Given the description of an element on the screen output the (x, y) to click on. 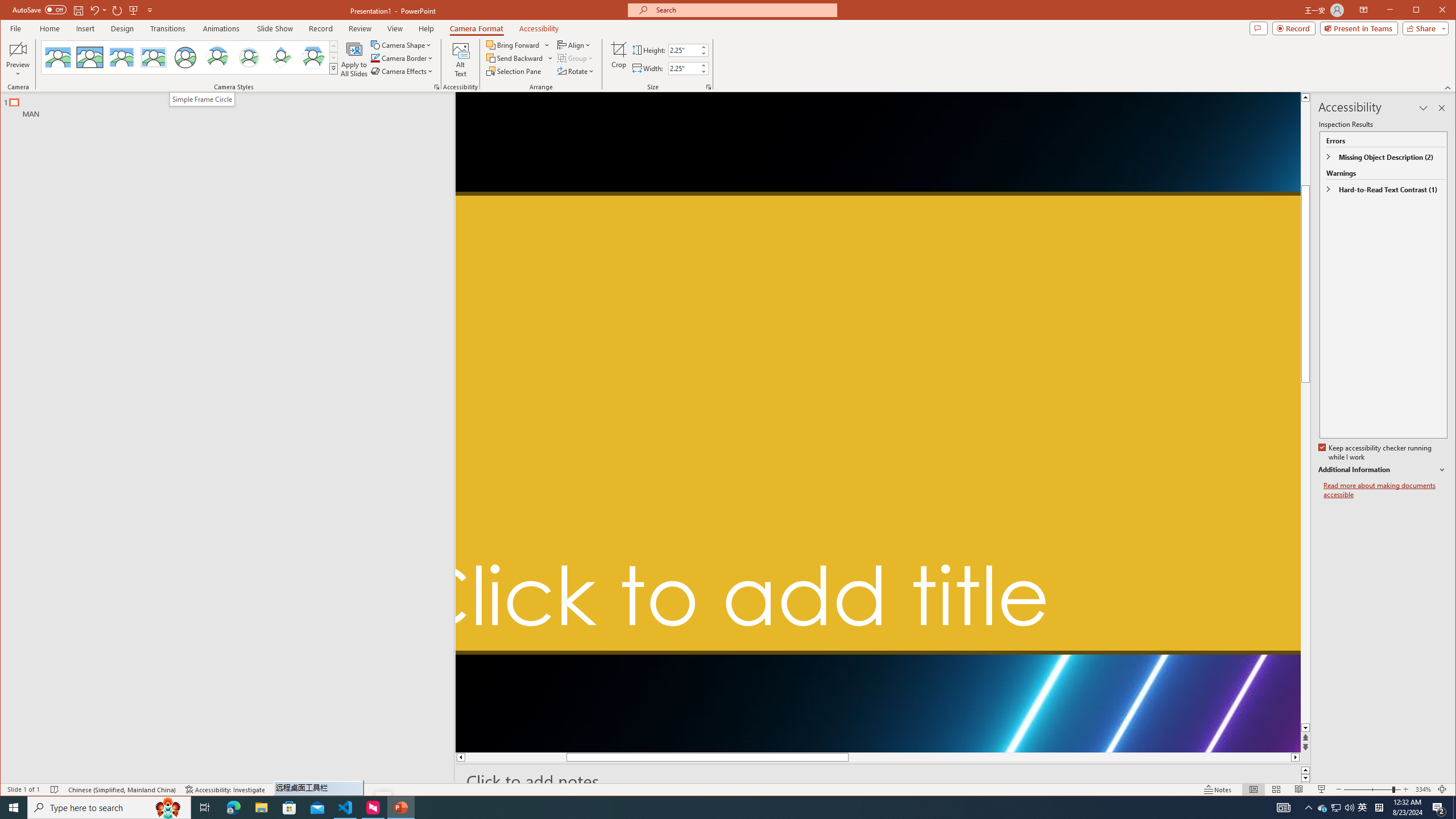
Simple Frame Circle (184, 57)
Title TextBox (877, 422)
Center Shadow Rectangle (122, 57)
Center Shadow Diamond (280, 57)
Align (575, 44)
Camera Border (402, 57)
Less (702, 70)
